Given the description of an element on the screen output the (x, y) to click on. 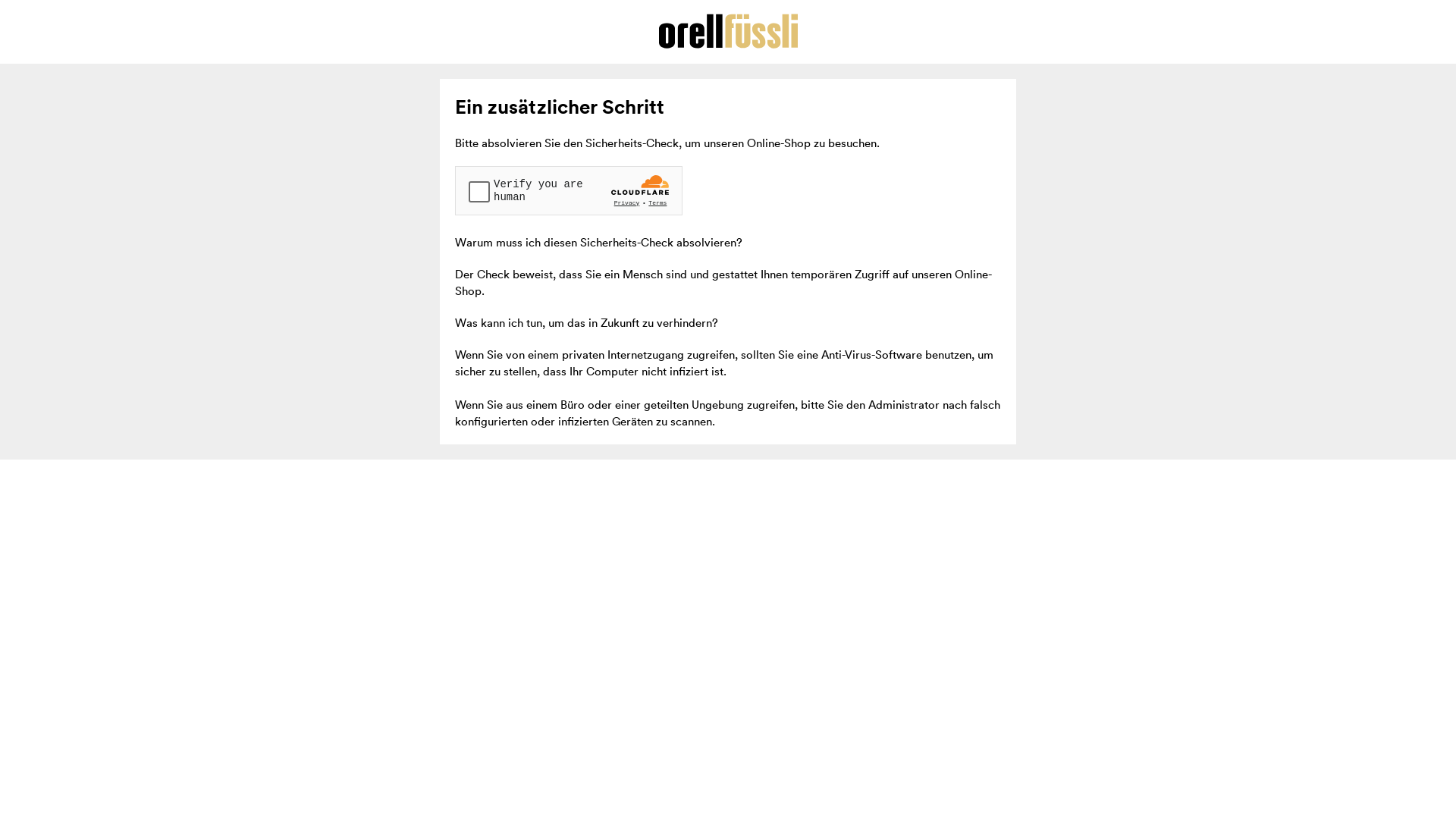
Widget containing a Cloudflare security challenge Element type: hover (568, 190)
